Given the description of an element on the screen output the (x, y) to click on. 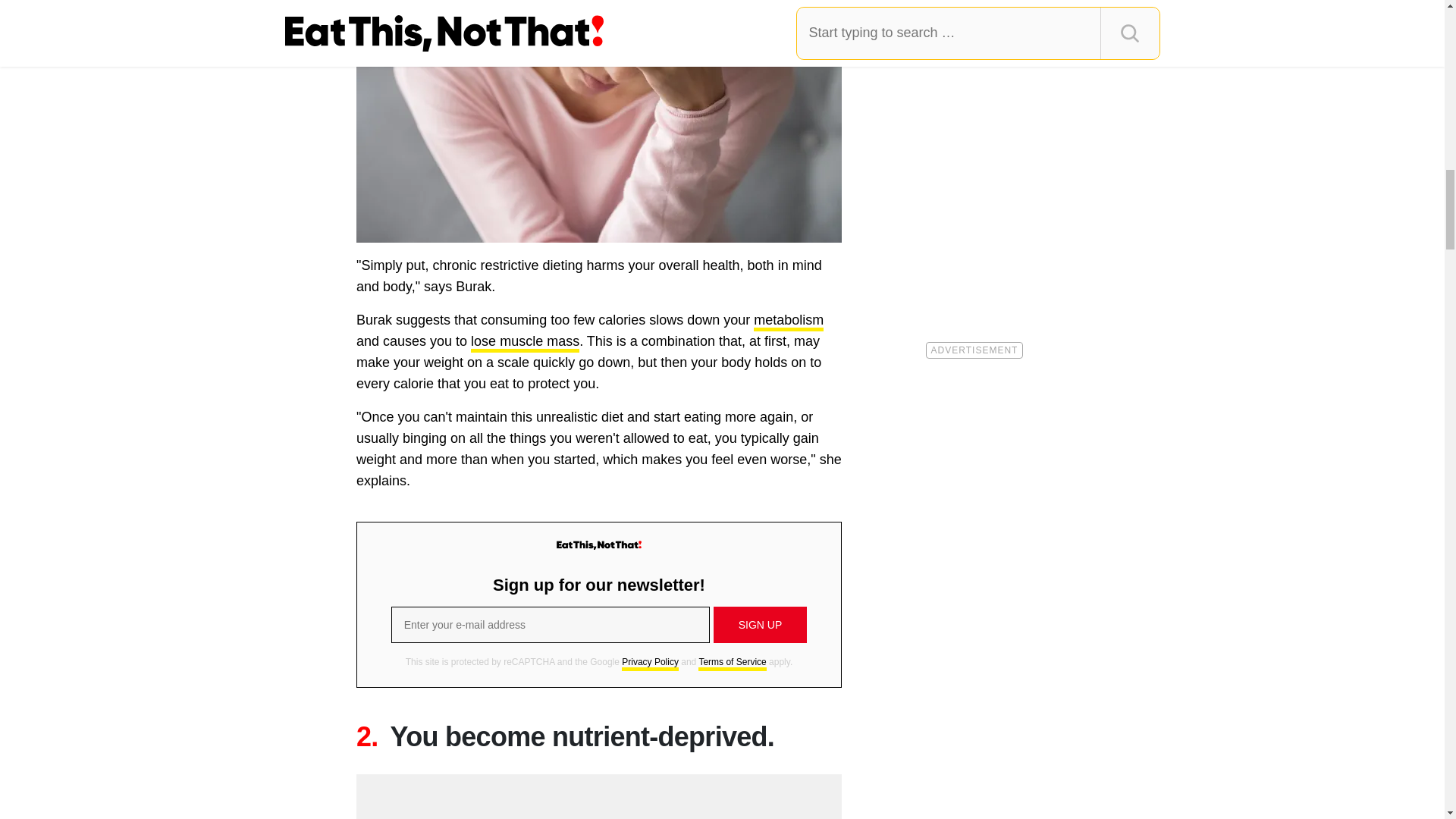
Sign Up (760, 624)
Eat This Not That (599, 545)
